Given the description of an element on the screen output the (x, y) to click on. 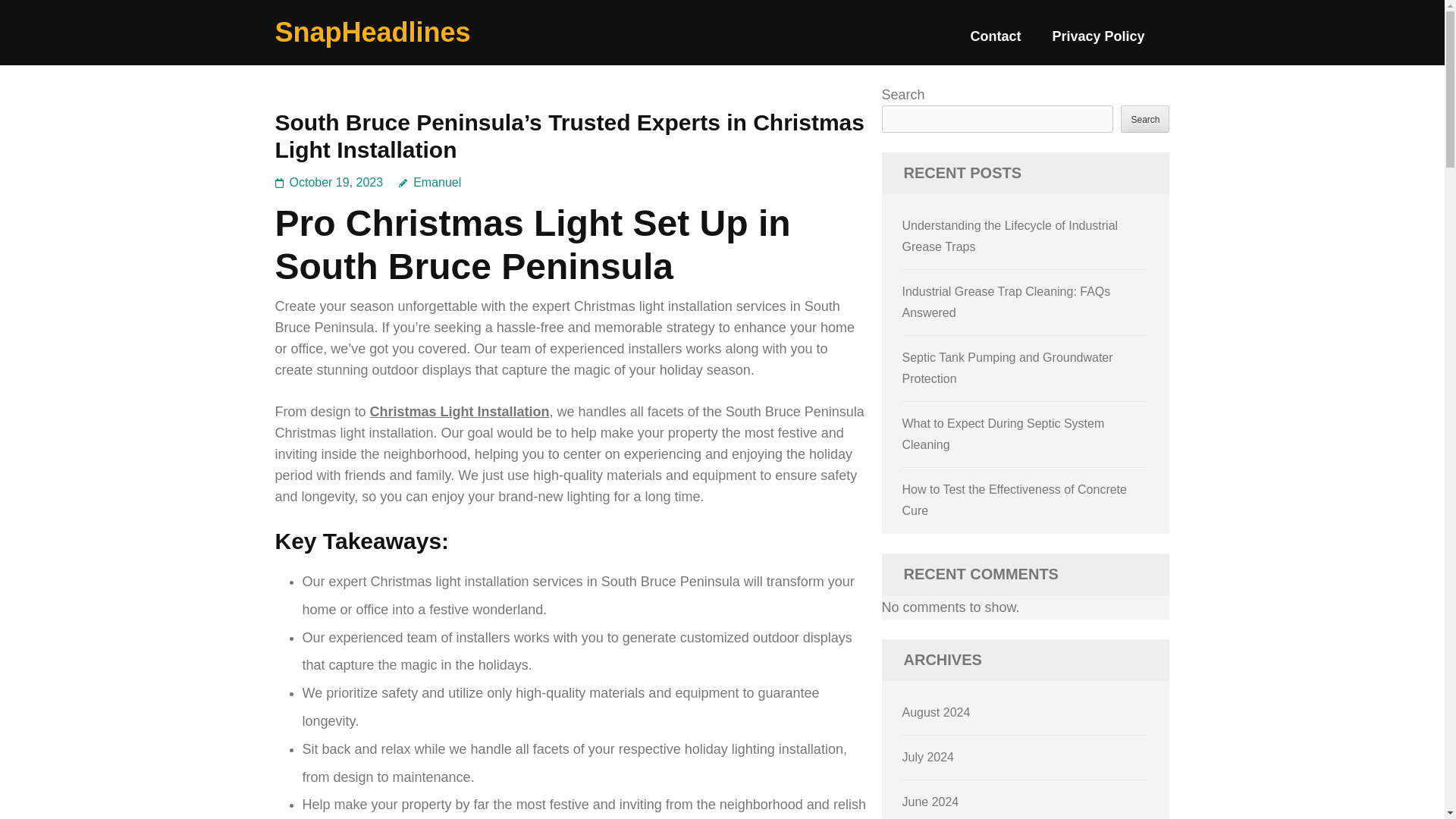
Search (1145, 118)
Emanuel (429, 182)
What to Expect During Septic System Cleaning (1003, 433)
October 19, 2023 (336, 182)
Understanding the Lifecycle of Industrial Grease Traps (1010, 236)
How to Test the Effectiveness of Concrete Cure (1014, 499)
Contact (994, 42)
Privacy Policy (1097, 42)
July 2024 (928, 757)
Septic Tank Pumping and Groundwater Protection (1007, 367)
